Given the description of an element on the screen output the (x, y) to click on. 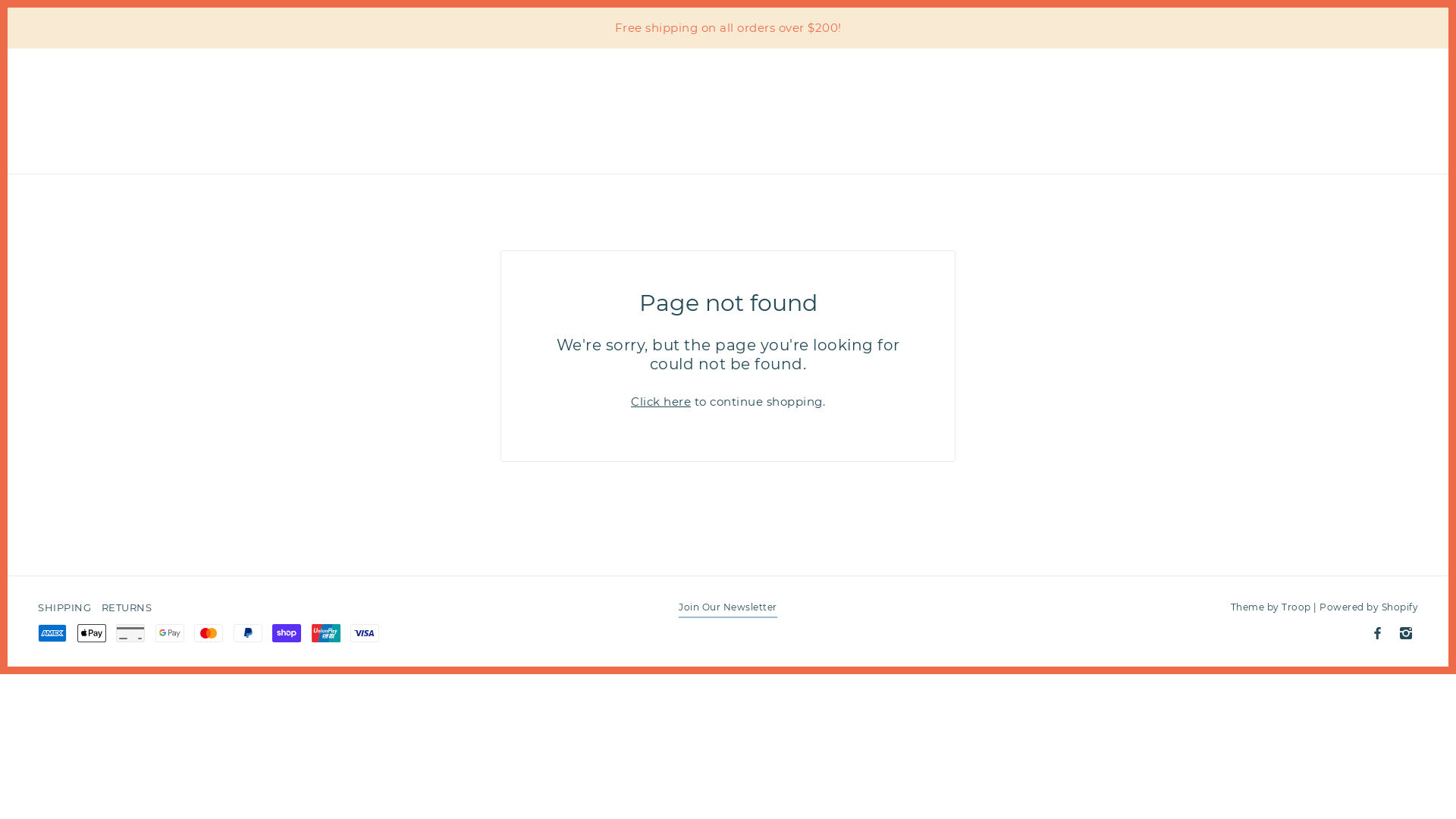
Theme by Troop Element type: text (1270, 606)
Facebook Element type: hover (1377, 632)
RETURNS Element type: text (126, 607)
Instagram Element type: hover (1405, 632)
Powered by Shopify Element type: text (1368, 606)
SHIPPING Element type: text (64, 607)
Free shipping on all orders over $200! Element type: text (727, 27)
Click here Element type: text (660, 401)
Join Our Newsletter Element type: text (727, 610)
